Given the description of an element on the screen output the (x, y) to click on. 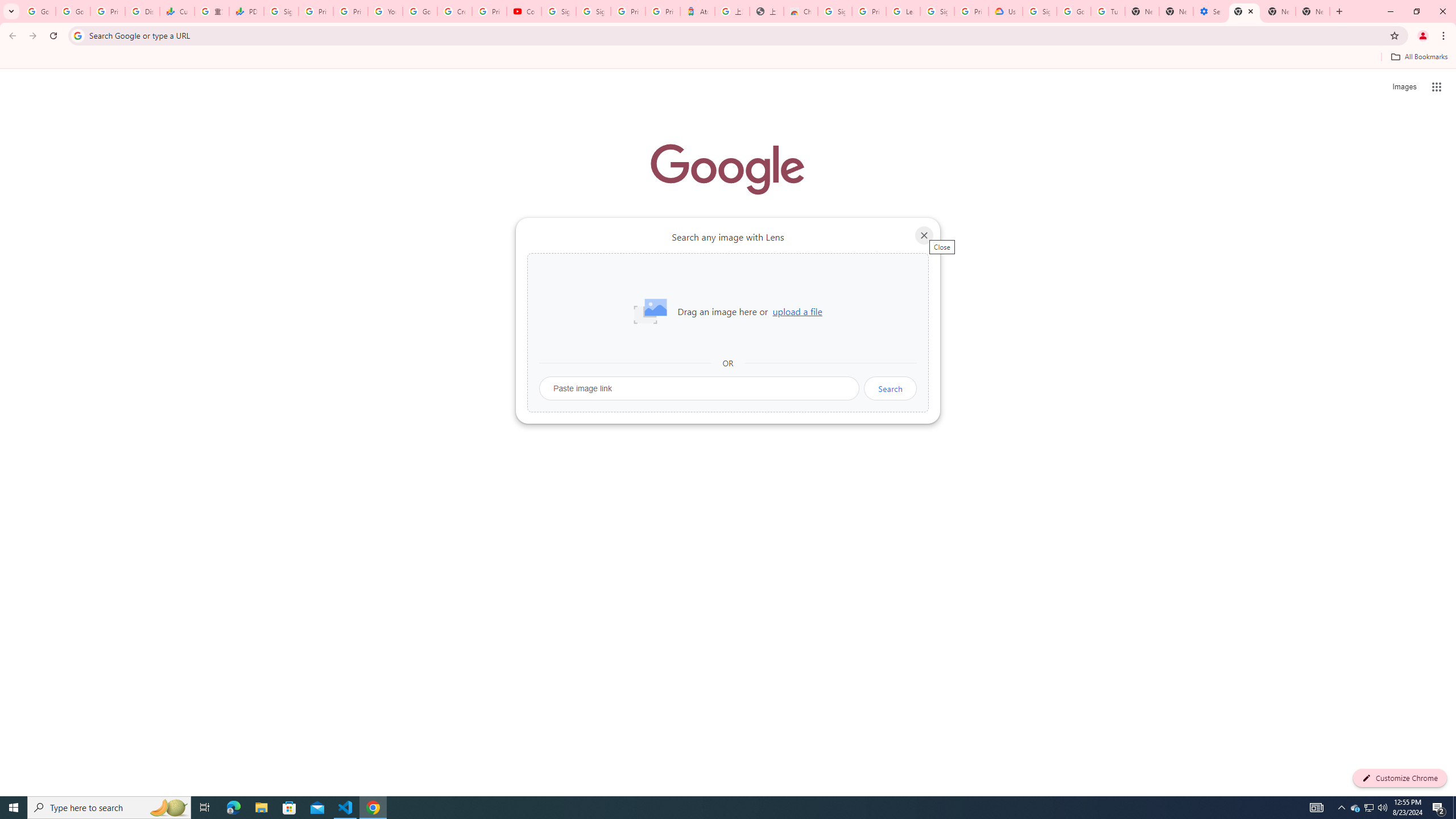
Create your Google Account (454, 11)
